Given the description of an element on the screen output the (x, y) to click on. 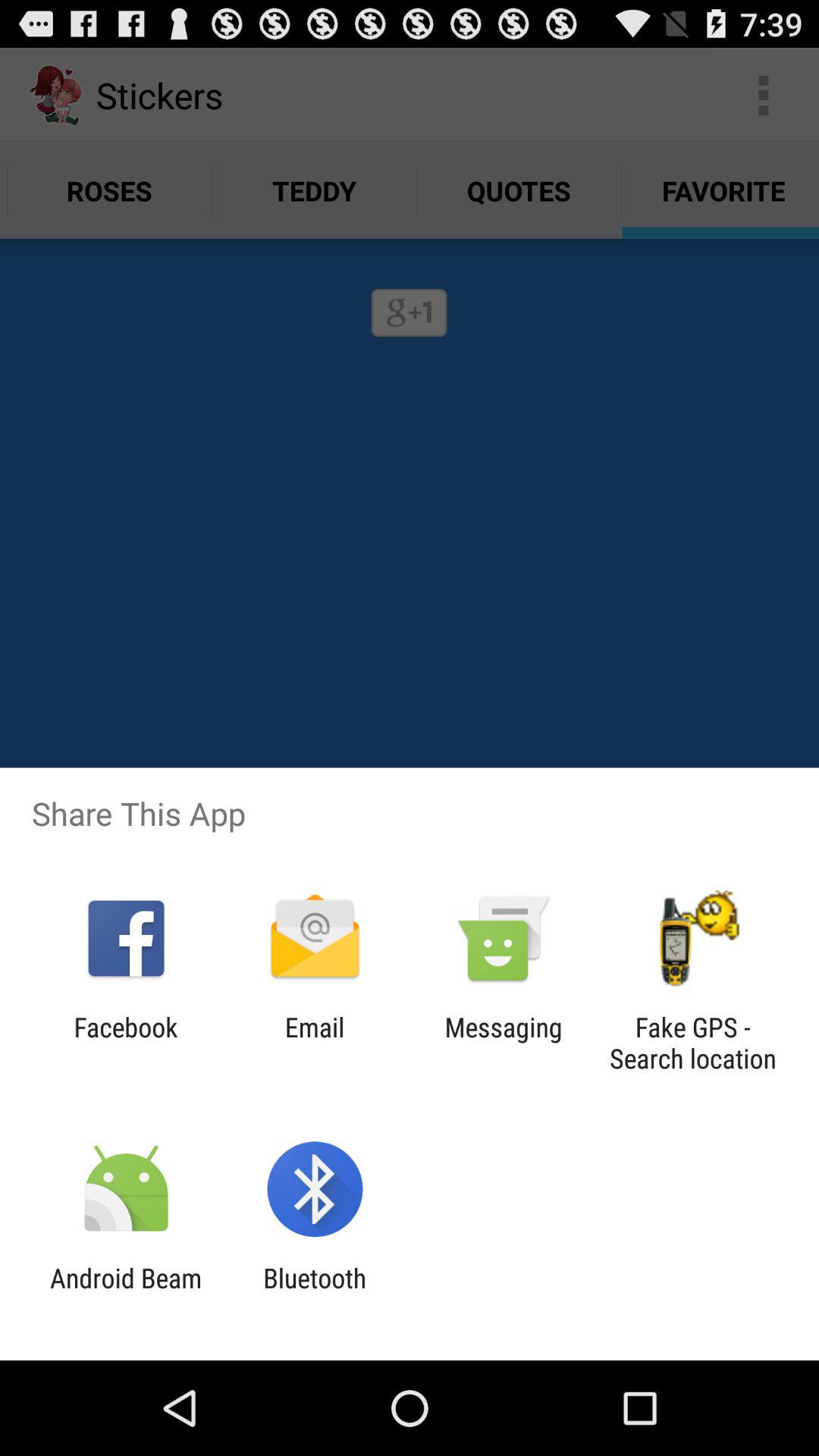
flip to the fake gps search (692, 1042)
